Given the description of an element on the screen output the (x, y) to click on. 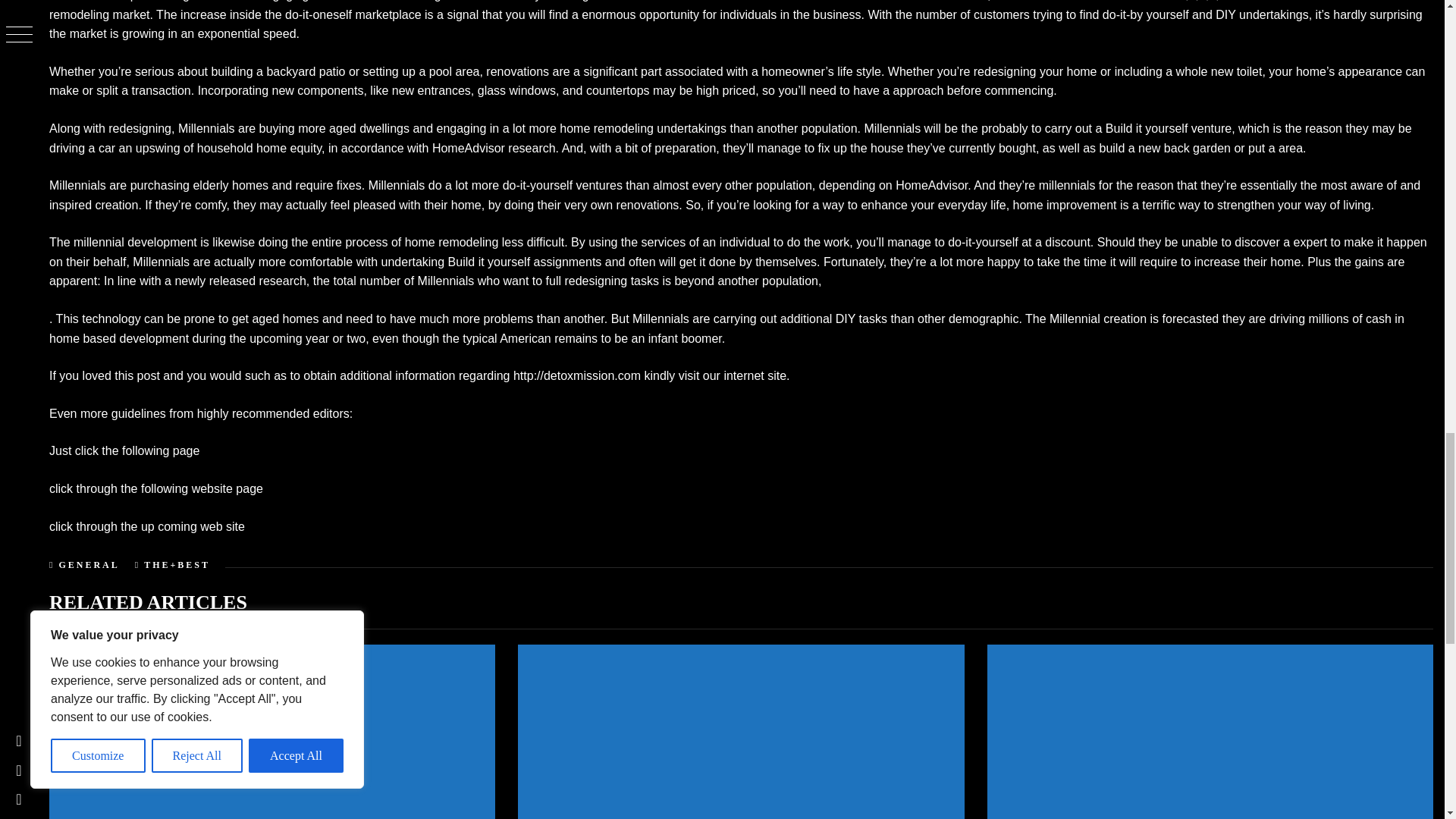
GENERAL (88, 564)
click through the up coming web site (146, 526)
click through the following website page (156, 488)
Just click the following page (124, 450)
